Given the description of an element on the screen output the (x, y) to click on. 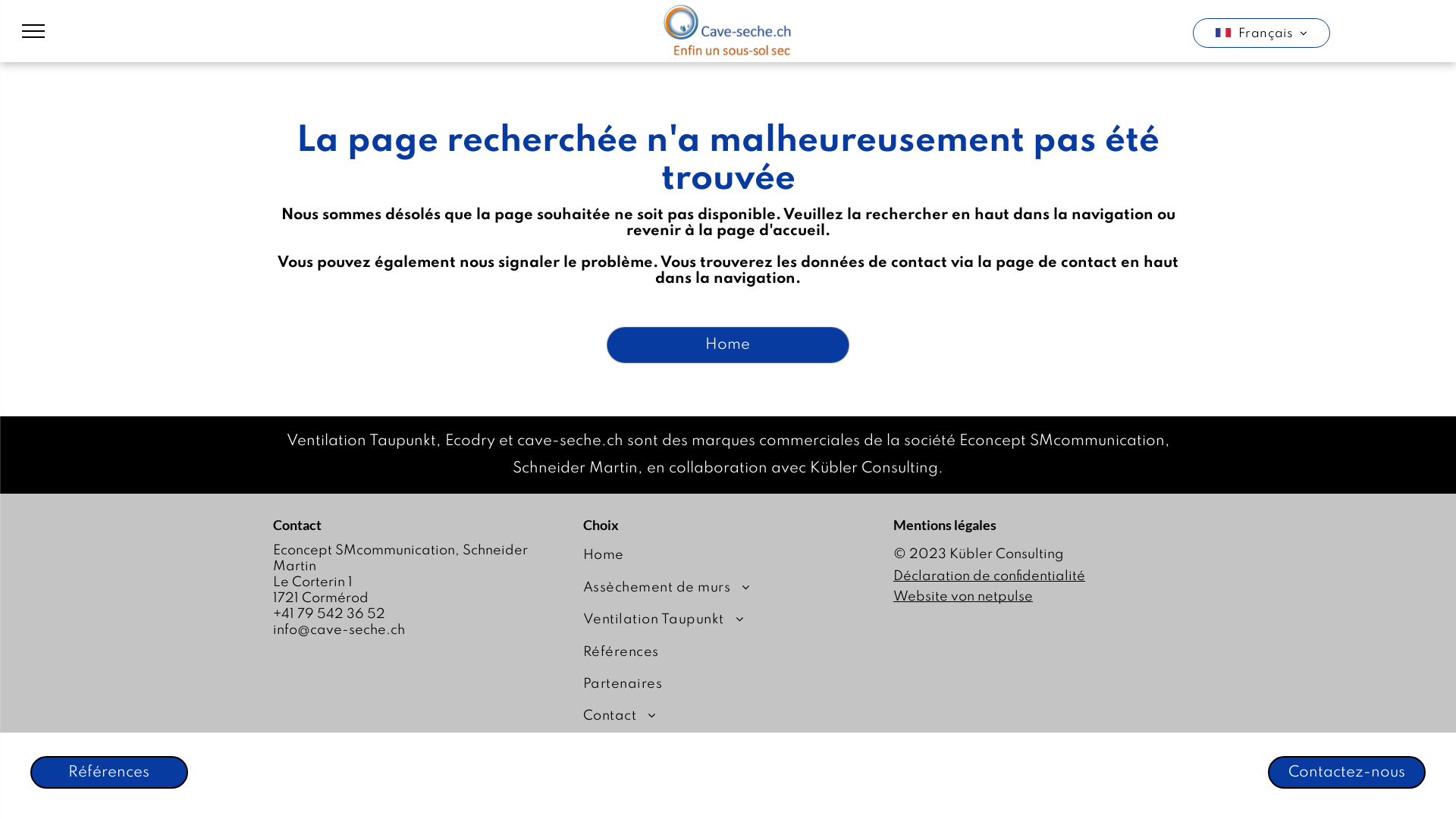
Home Element type: text (727, 344)
Website von netpulse Element type: text (962, 596)
Contactez-nous Element type: text (1346, 772)
Partenaires Element type: text (716, 683)
Home Element type: text (716, 555)
Contact Element type: text (716, 715)
Ventilation Taupunkt Element type: text (716, 619)
